Given the description of an element on the screen output the (x, y) to click on. 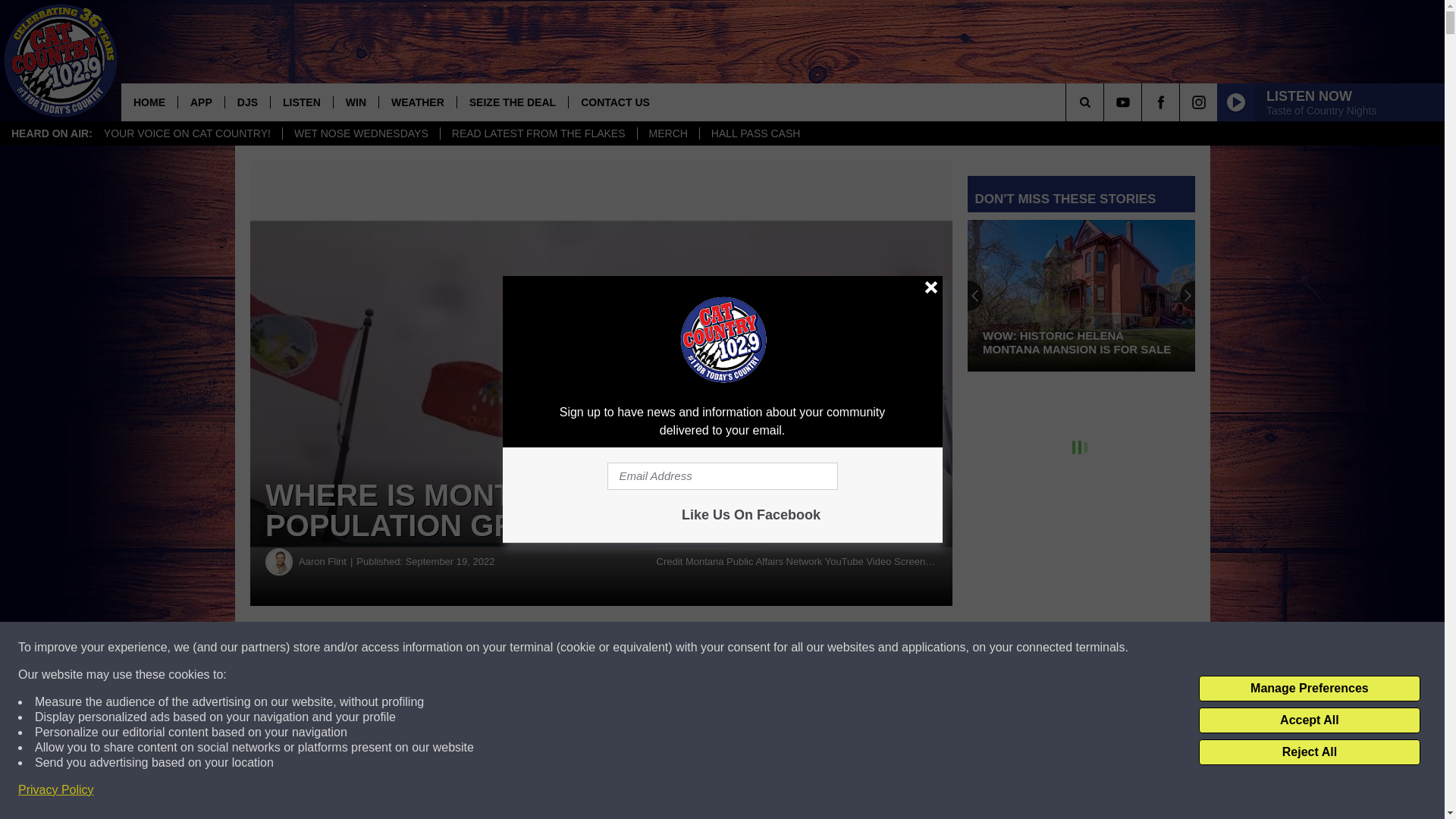
SEARCH (1106, 102)
DJS (246, 102)
MERCH (667, 133)
LISTEN (301, 102)
HOME (148, 102)
Share on Facebook (460, 647)
Reject All (1309, 751)
WET NOSE WEDNESDAYS (360, 133)
HALL PASS CASH (755, 133)
Accept All (1309, 720)
READ LATEST FROM THE FLAKES (538, 133)
WIN (355, 102)
Share on Twitter (741, 647)
Manage Preferences (1309, 688)
APP (200, 102)
